Given the description of an element on the screen output the (x, y) to click on. 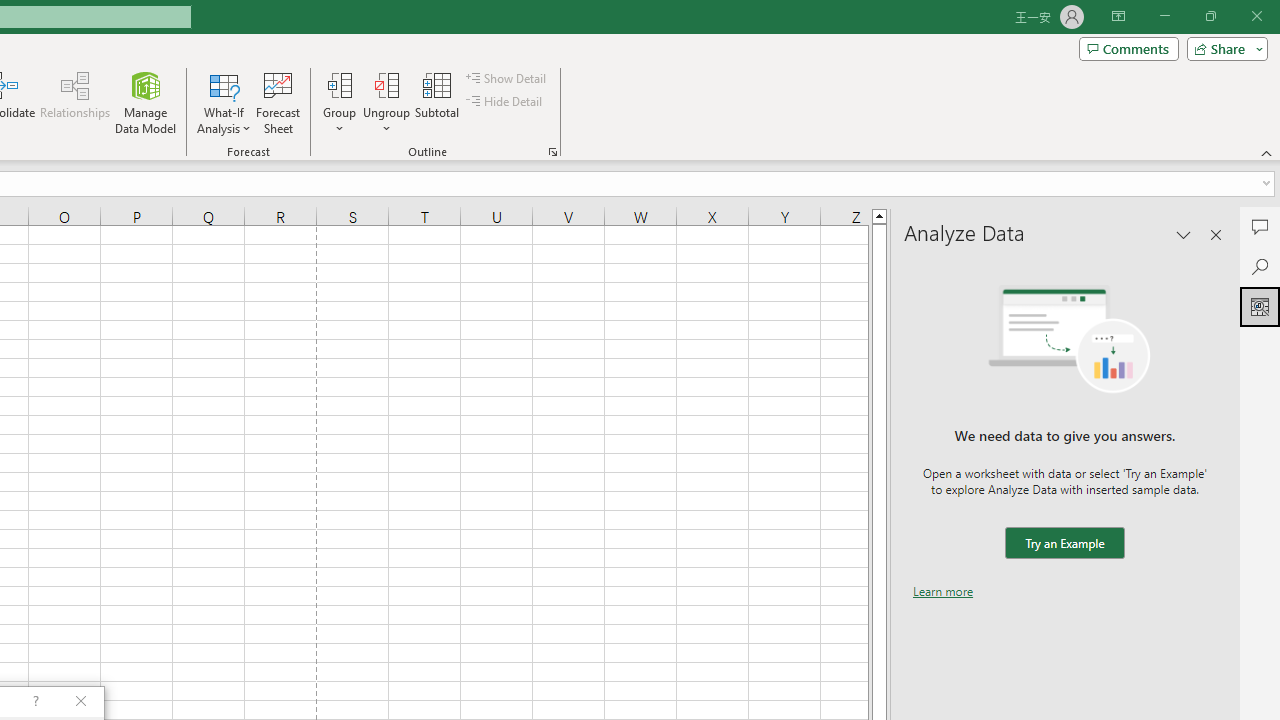
Ungroup... (386, 84)
Analyze Data (1260, 306)
Share (1223, 48)
Group... (339, 84)
Close pane (1215, 234)
Restore Down (1210, 16)
Close (1256, 16)
Comments (1128, 48)
Search (1260, 266)
Comments (1260, 226)
Show Detail (507, 78)
Ribbon Display Options (1118, 16)
Manage Data Model (145, 102)
Line up (879, 215)
